Given the description of an element on the screen output the (x, y) to click on. 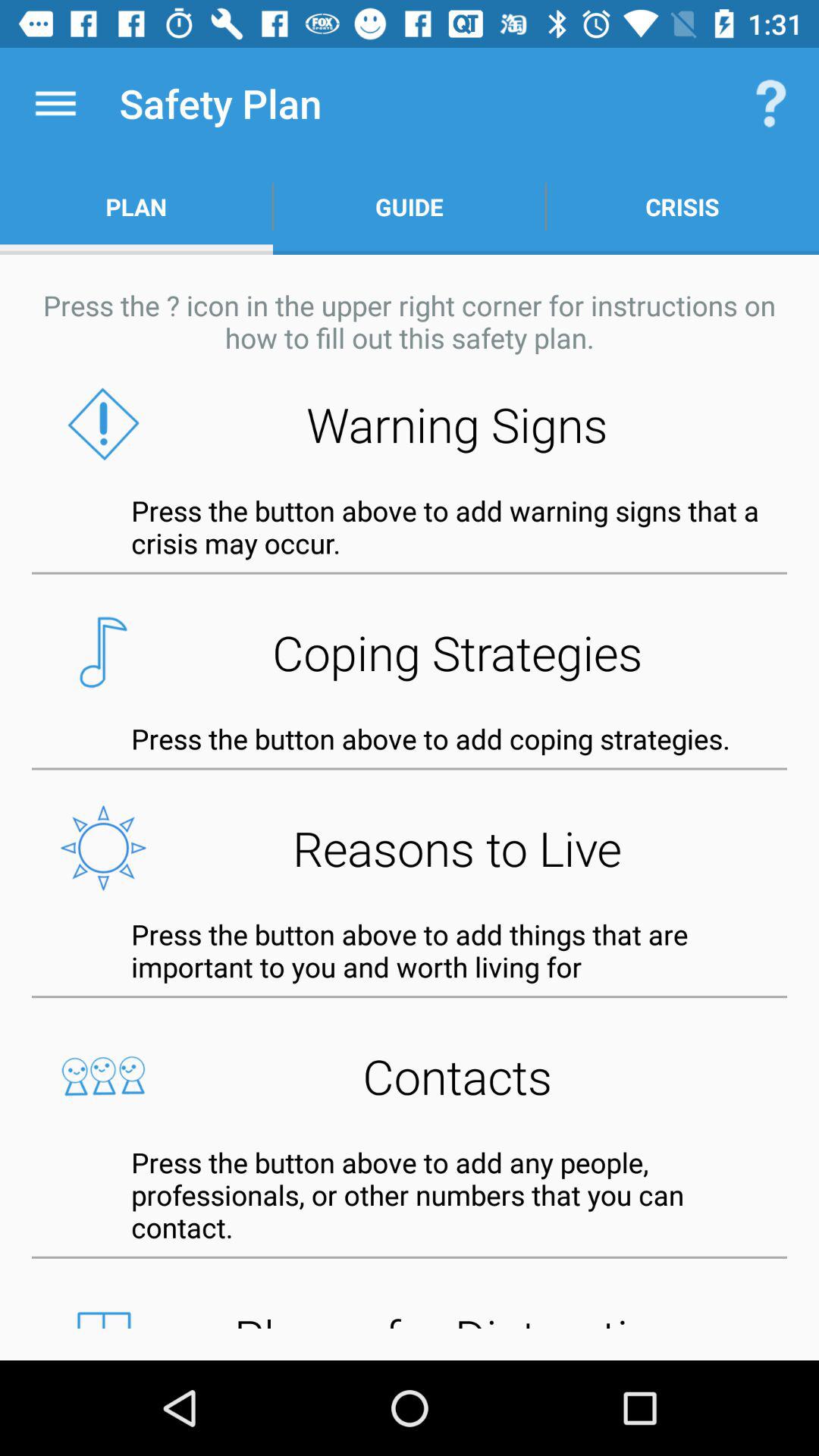
launch icon next to the crisis app (409, 206)
